Given the description of an element on the screen output the (x, y) to click on. 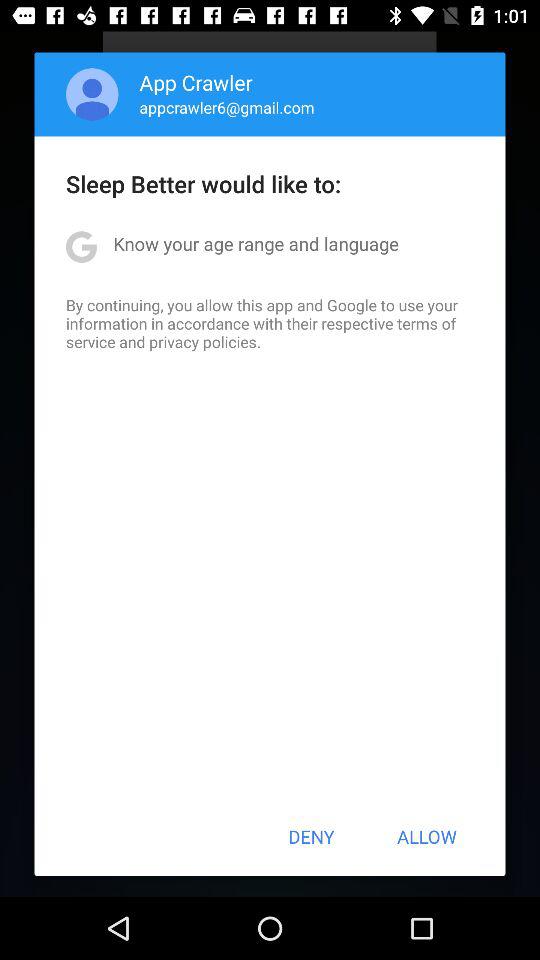
launch the app below the sleep better would item (255, 243)
